Given the description of an element on the screen output the (x, y) to click on. 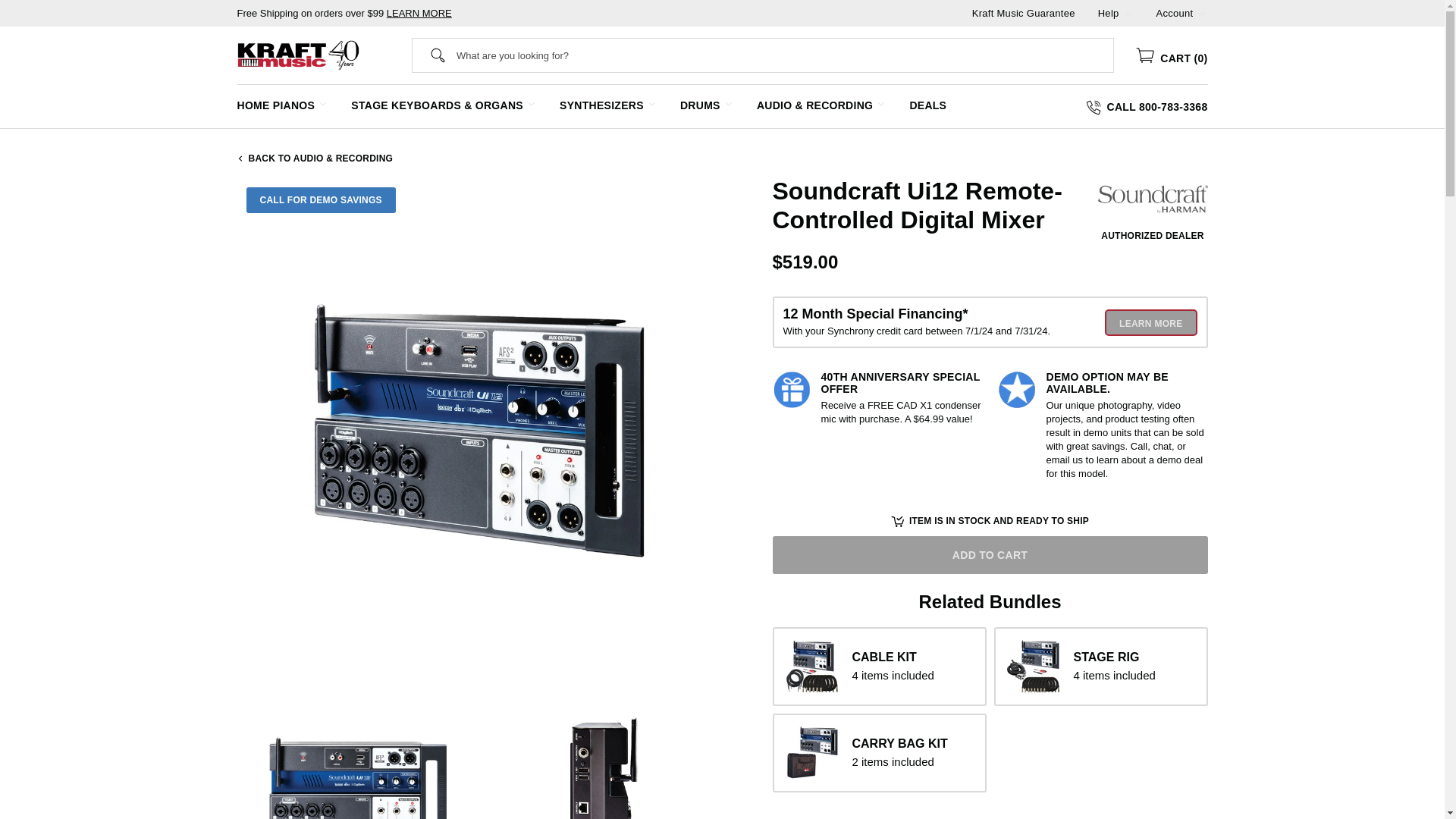
Kraft Music Home (297, 55)
Account submenu (1201, 12)
Search (438, 55)
Help (1108, 12)
Kraft Music Guarantee (1023, 12)
Account (1174, 12)
LEARN MORE (419, 12)
Help submenu (1128, 12)
